Given the description of an element on the screen output the (x, y) to click on. 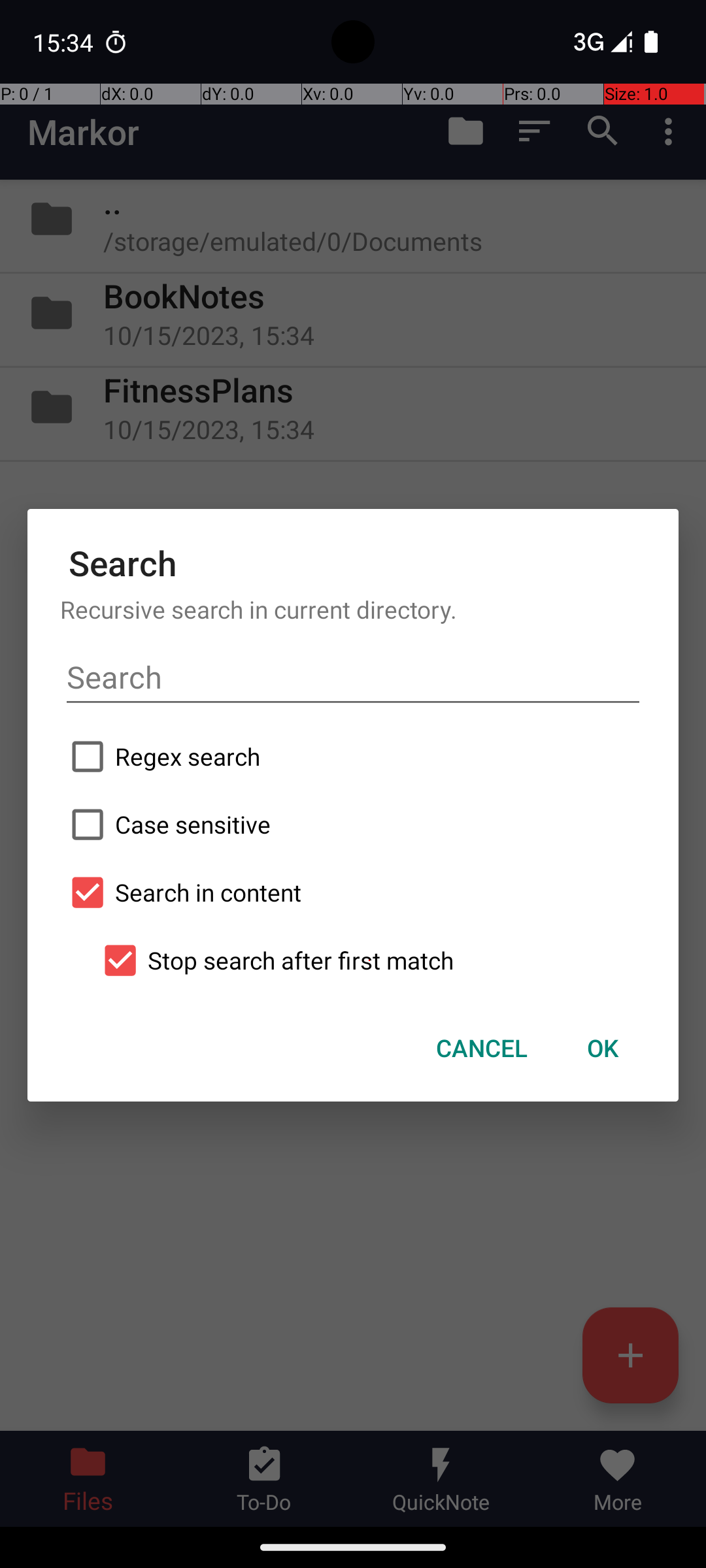
Stop search after first match Element type: android.widget.CheckBox (368, 959)
